Given the description of an element on the screen output the (x, y) to click on. 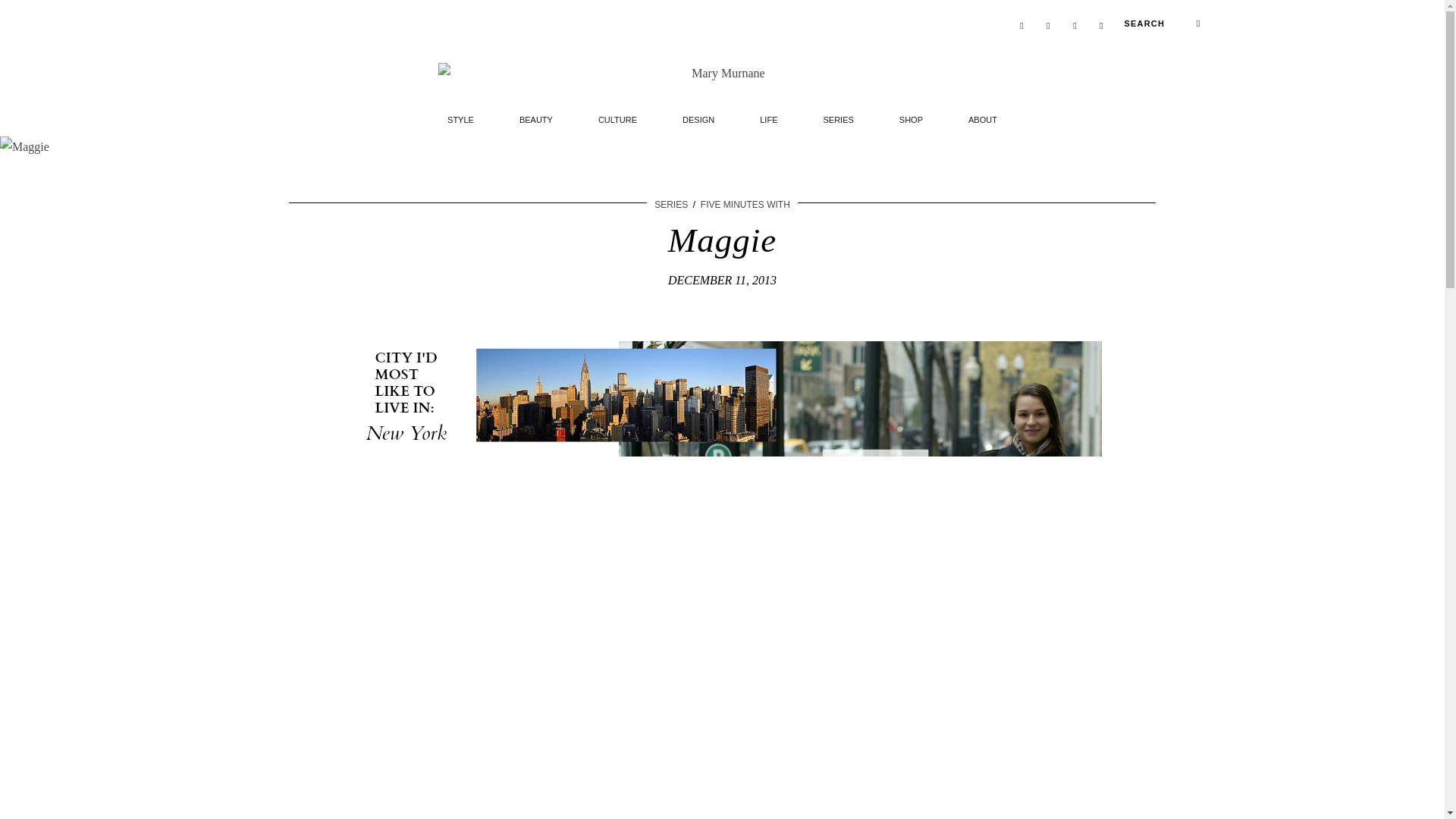
Search for: (1161, 25)
STYLE (460, 113)
BEAUTY (535, 113)
